Given the description of an element on the screen output the (x, y) to click on. 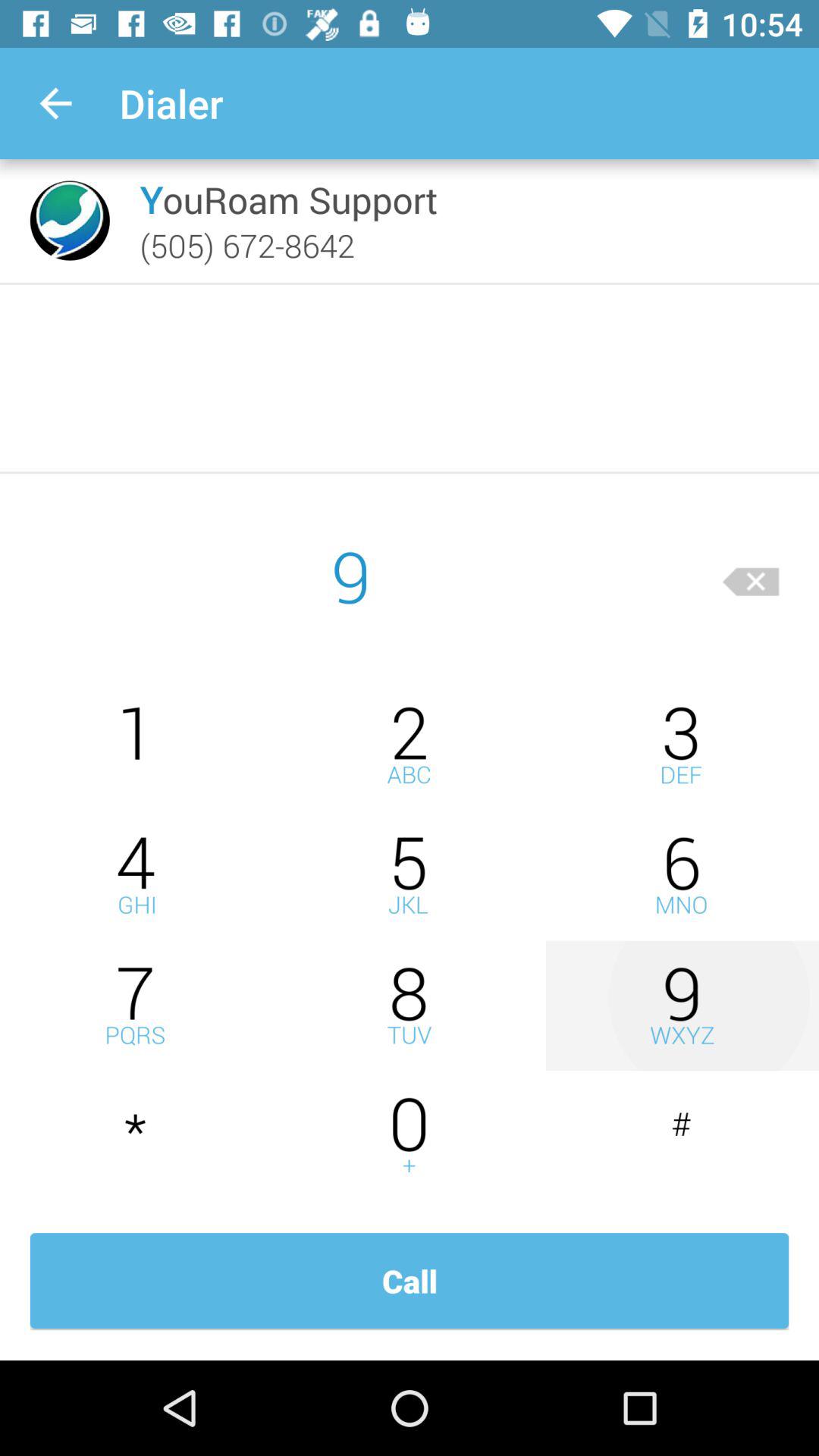
press to select number (136, 745)
